Given the description of an element on the screen output the (x, y) to click on. 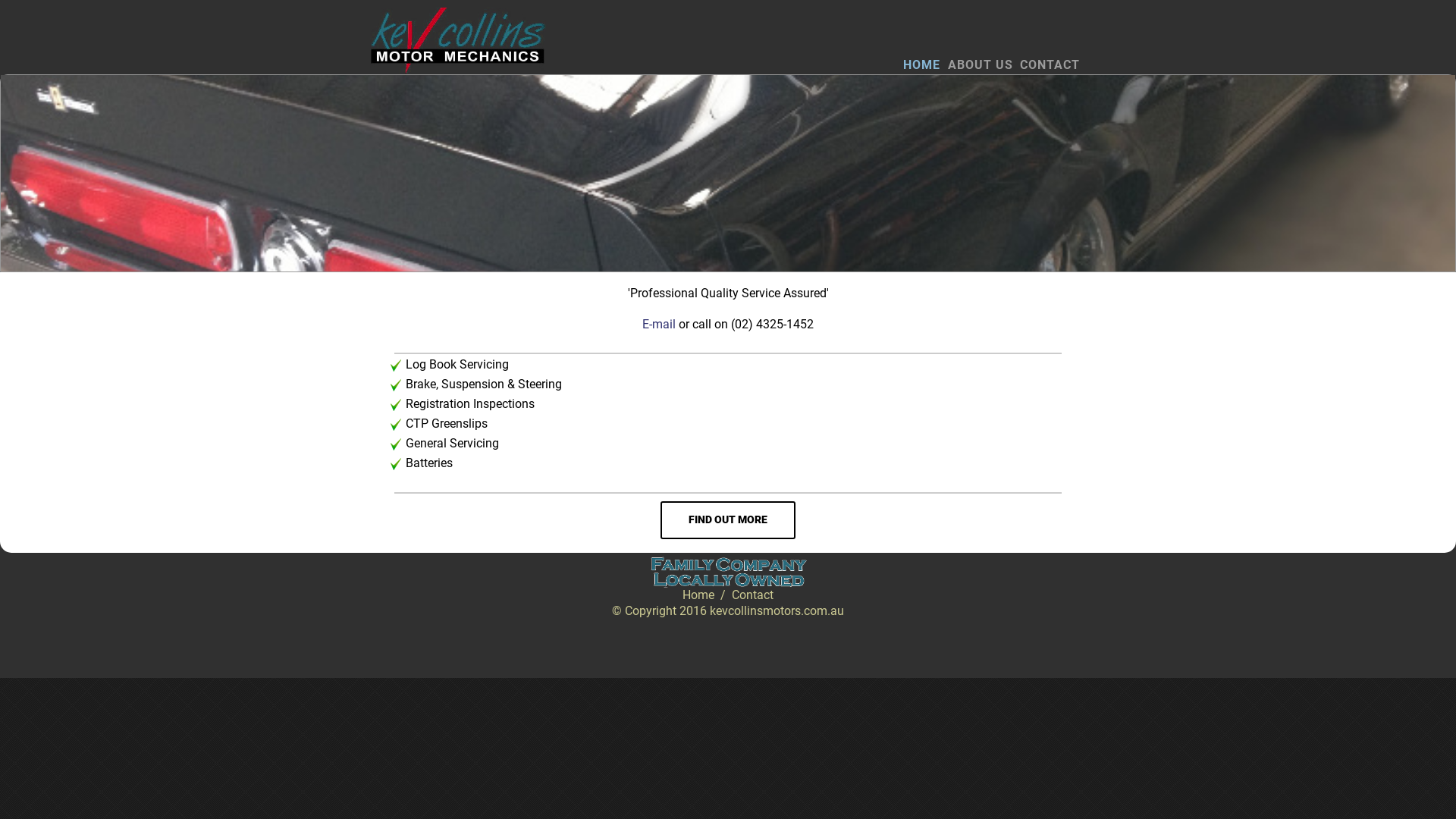
Home Element type: text (698, 594)
Contact Element type: text (752, 594)
E-mail Element type: text (658, 323)
ABOUT US Element type: text (980, 64)
CONTACT Element type: text (1049, 64)
FIND OUT MORE Element type: text (727, 520)
HOME Element type: text (921, 64)
